Given the description of an element on the screen output the (x, y) to click on. 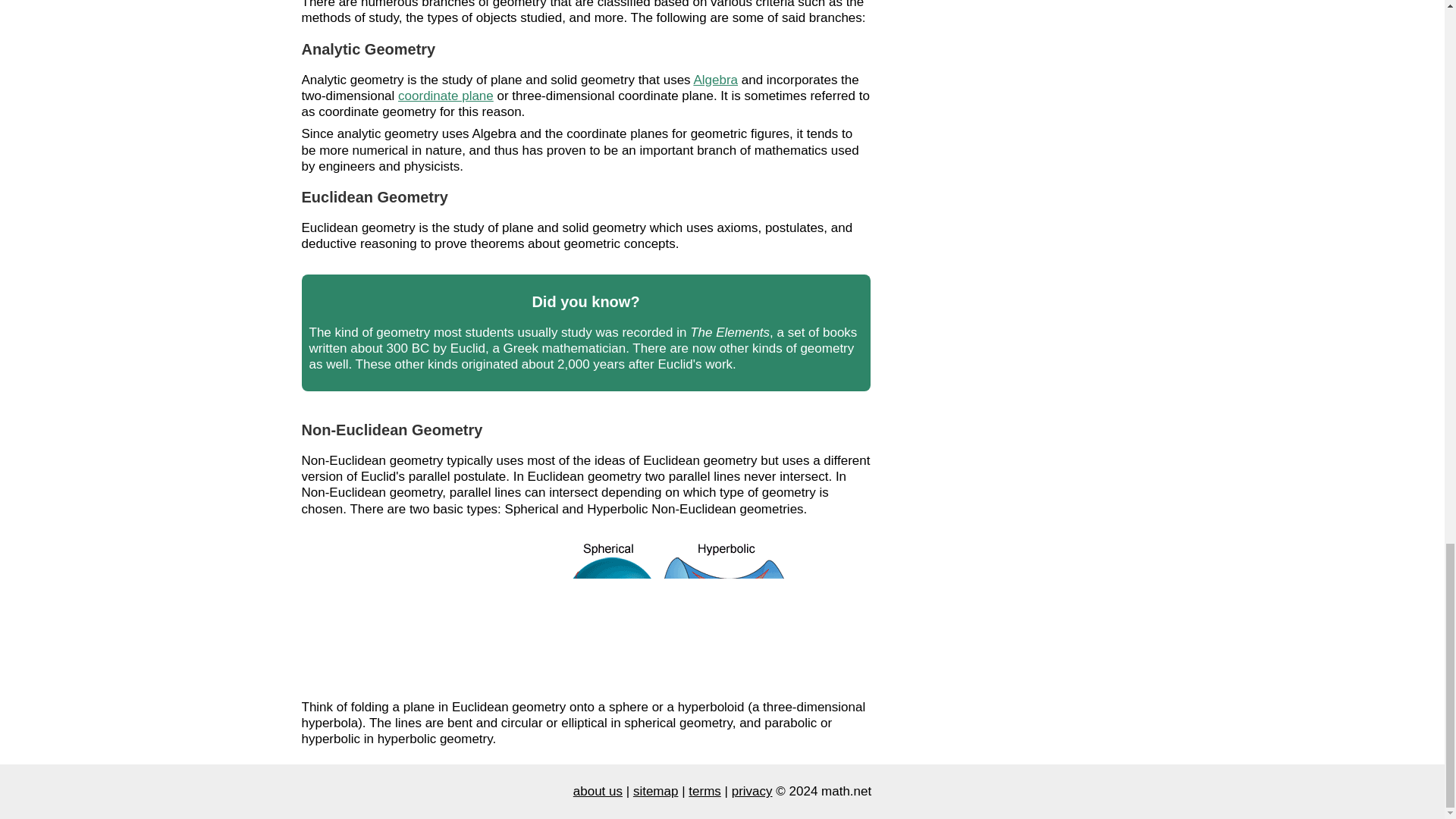
Algebra (715, 79)
sitemap (655, 790)
terms (704, 790)
coordinate plane (445, 95)
about us (598, 790)
privacy (752, 790)
